Given the description of an element on the screen output the (x, y) to click on. 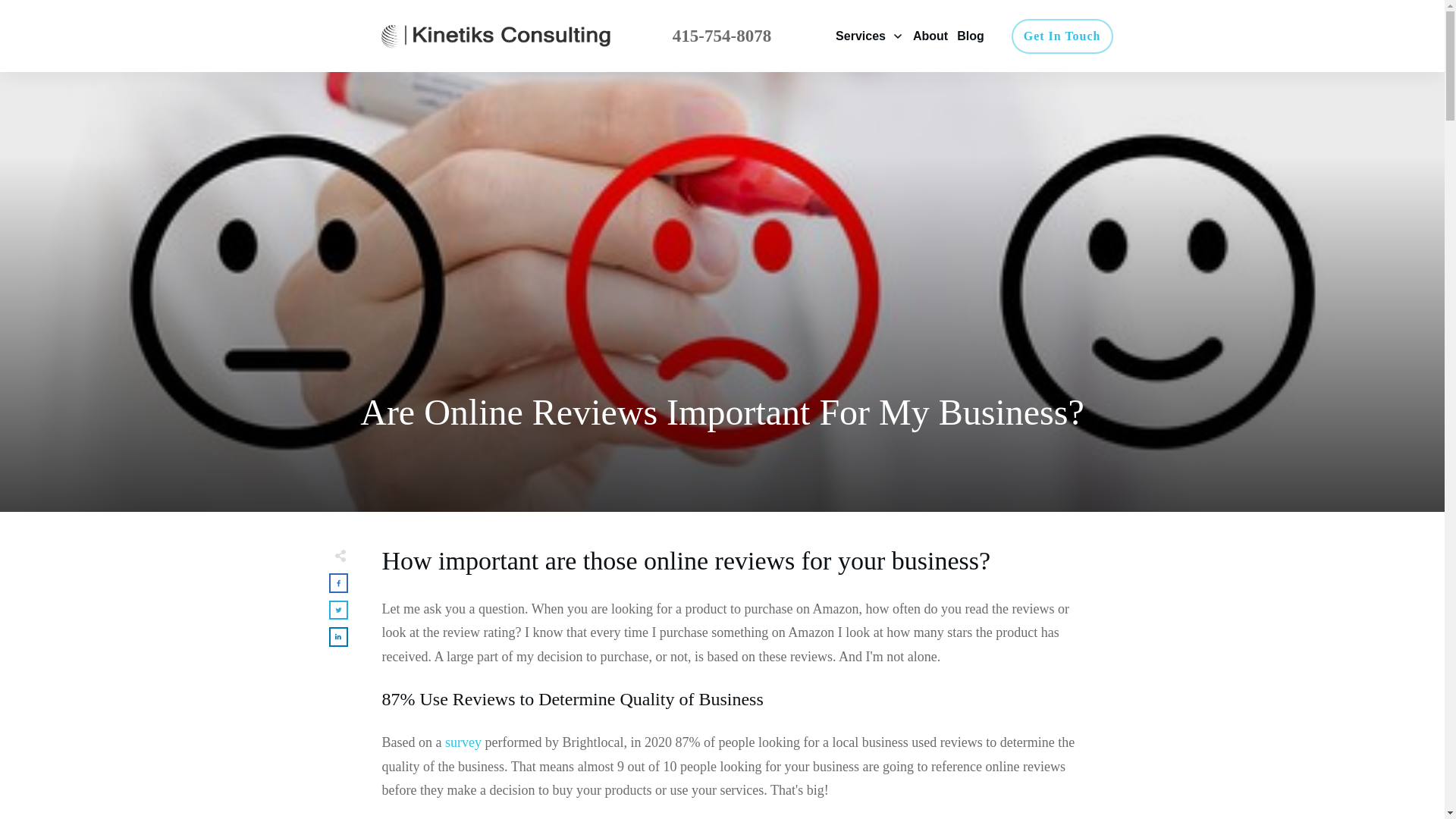
survey (463, 742)
About (929, 36)
Services (869, 36)
Blog (970, 36)
Get In Touch (1061, 36)
